Given the description of an element on the screen output the (x, y) to click on. 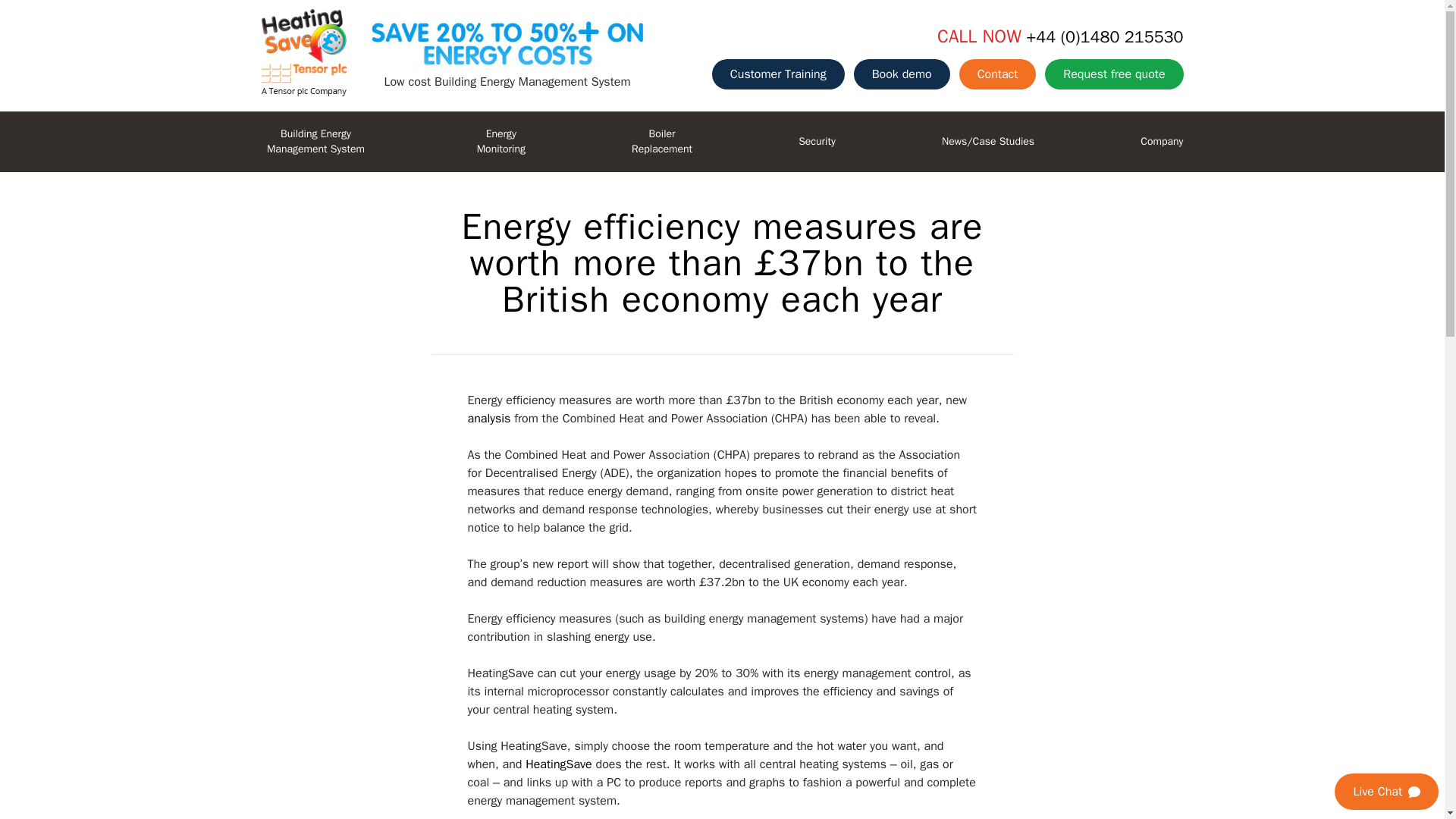
Contact (997, 73)
Building Energy Management System (500, 141)
Customer Training (314, 141)
Book demo (777, 73)
Request free quote (901, 73)
